Given the description of an element on the screen output the (x, y) to click on. 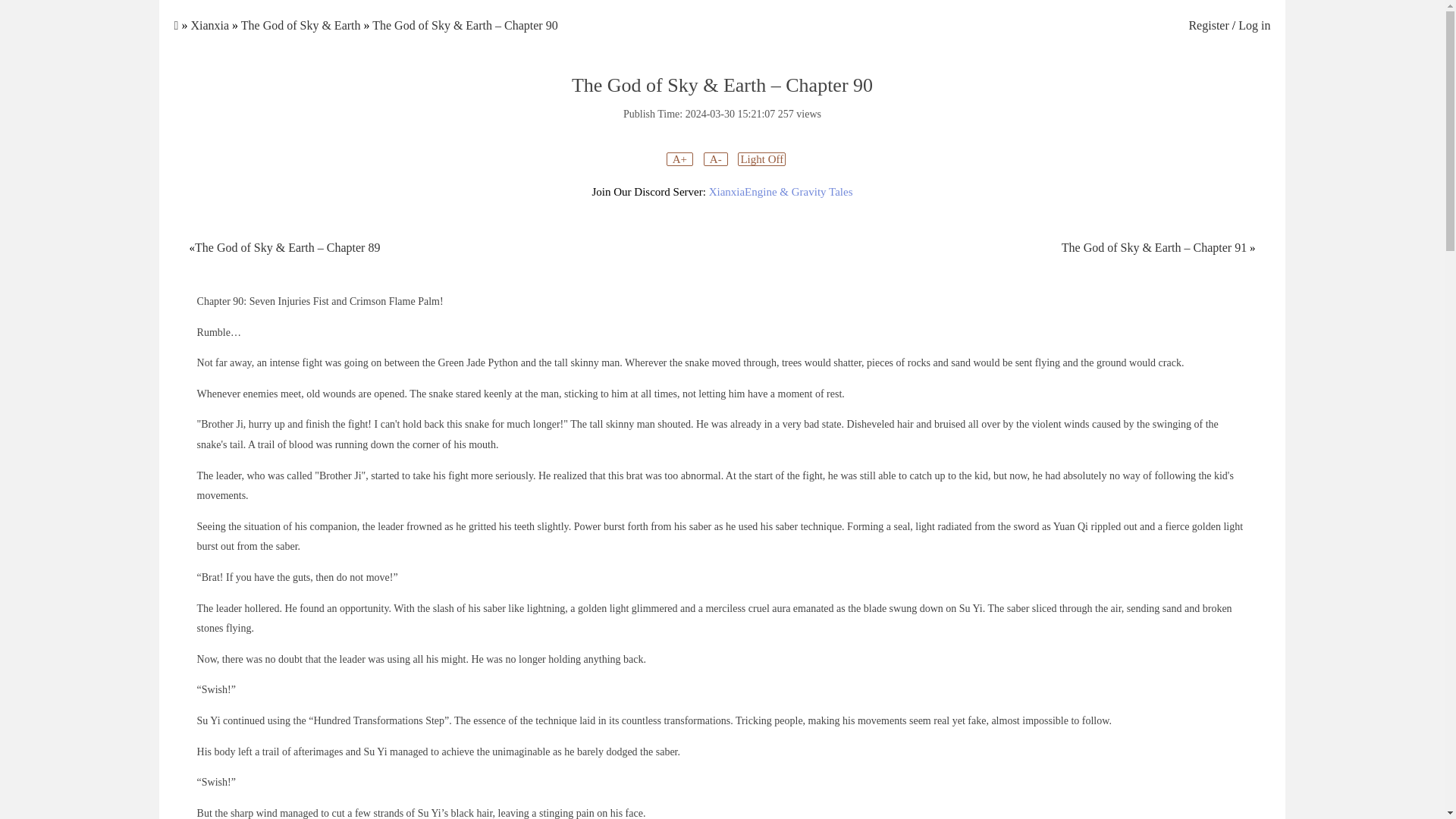
Register (1208, 24)
Log in (1254, 24)
Xianxia (209, 24)
